Given the description of an element on the screen output the (x, y) to click on. 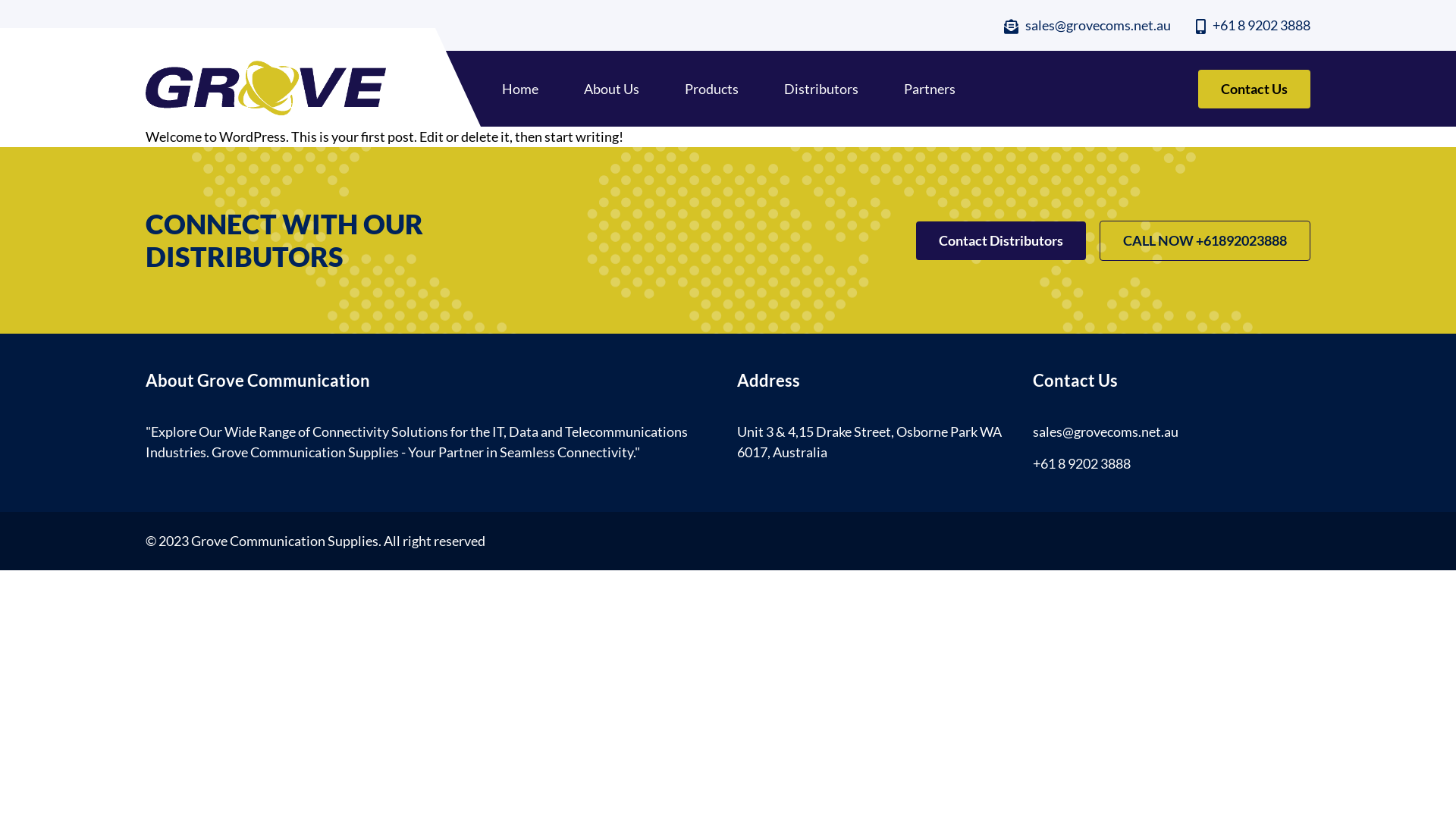
Contact Us Element type: text (1254, 88)
+61 8 9202 3888 Element type: text (1252, 24)
Products Element type: text (711, 88)
sales@grovecoms.net.au Element type: text (1105, 431)
CALL NOW +61892023888 Element type: text (1204, 240)
Contact Distributors Element type: text (1000, 240)
+61 8 9202 3888 Element type: text (1081, 463)
Partners Element type: text (929, 88)
Distributors Element type: text (821, 88)
Home Element type: text (520, 88)
About Us Element type: text (611, 88)
sales@grovecoms.net.au Element type: text (1087, 24)
